Given the description of an element on the screen output the (x, y) to click on. 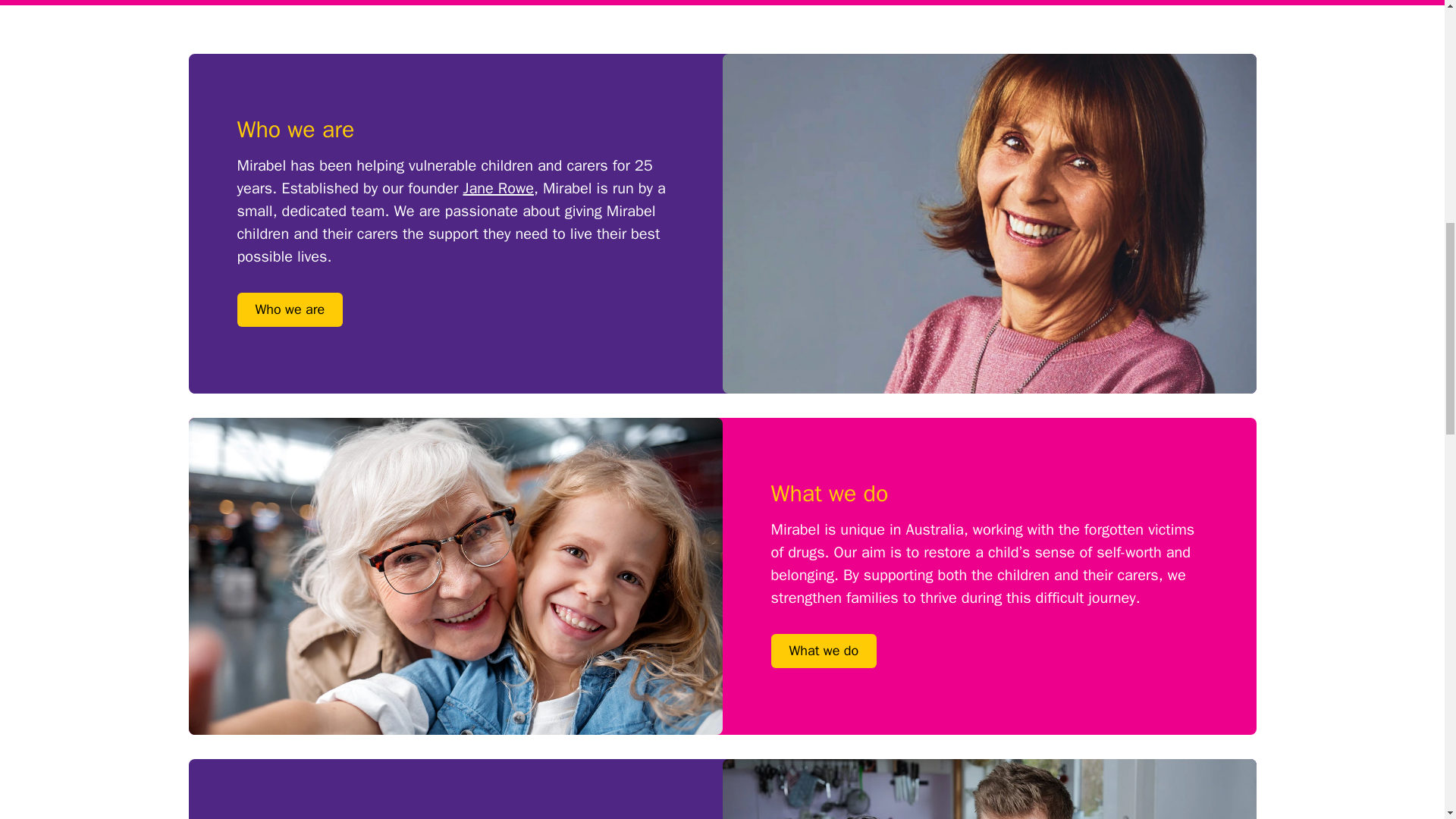
Who we are (288, 309)
What we do (823, 650)
